Given the description of an element on the screen output the (x, y) to click on. 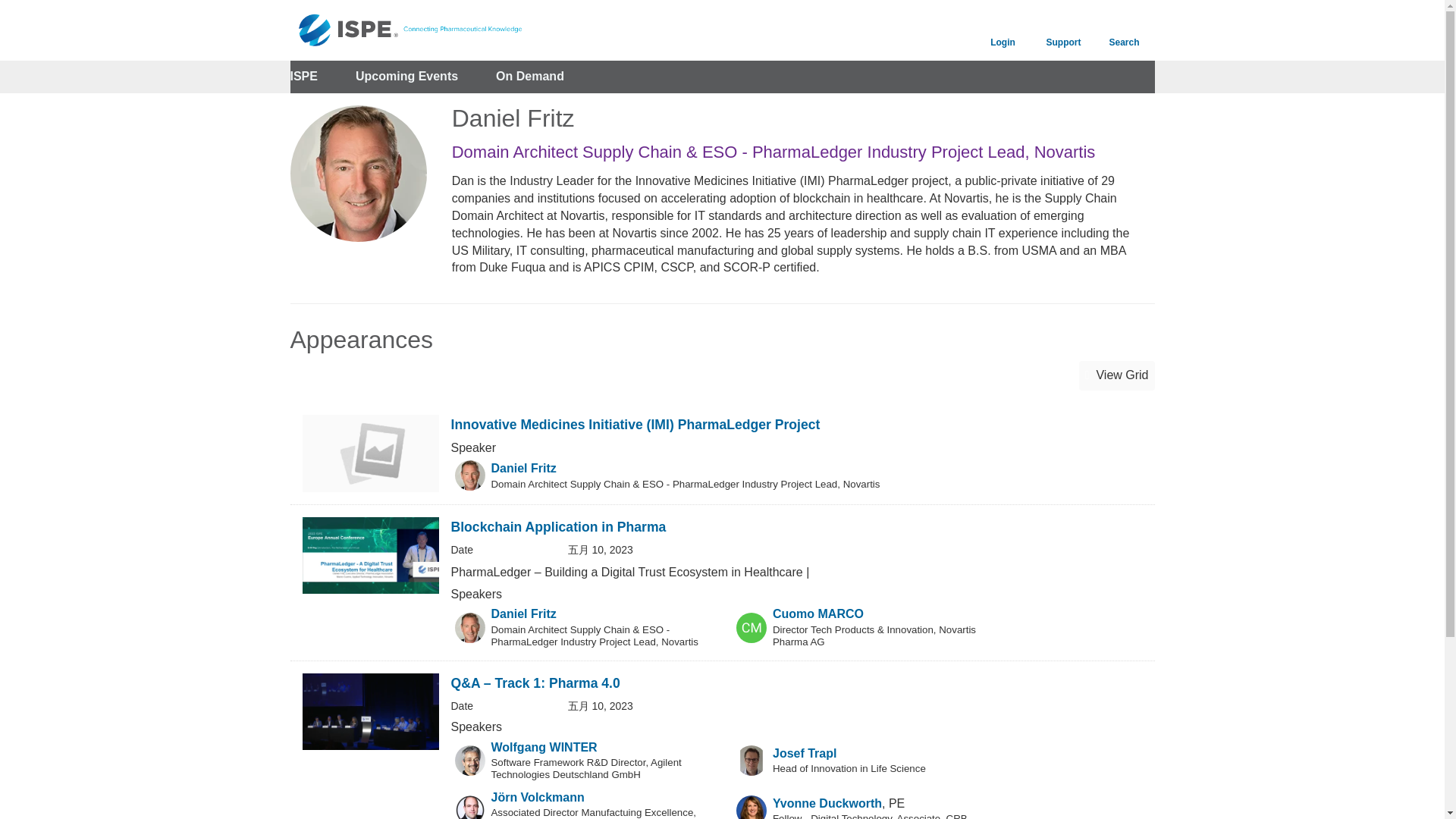
Upcoming Events (406, 76)
Yvonne Duckworth (827, 802)
On Demand (530, 76)
Support (1062, 30)
Speaker Image for Wolfgang WINTER (469, 760)
Daniel Fritz (524, 468)
Speaker Image for Josef Trapl (751, 760)
Support (1062, 30)
Speaker Image for Daniel Fritz (469, 475)
Wolfgang WINTER (544, 747)
Speaker Image for Daniel Fritz (469, 627)
Blockchain Application in Pharma (557, 526)
Speaker Image for Yvonne Duckworth (751, 807)
Login (1002, 30)
  View Grid (1116, 375)
